Given the description of an element on the screen output the (x, y) to click on. 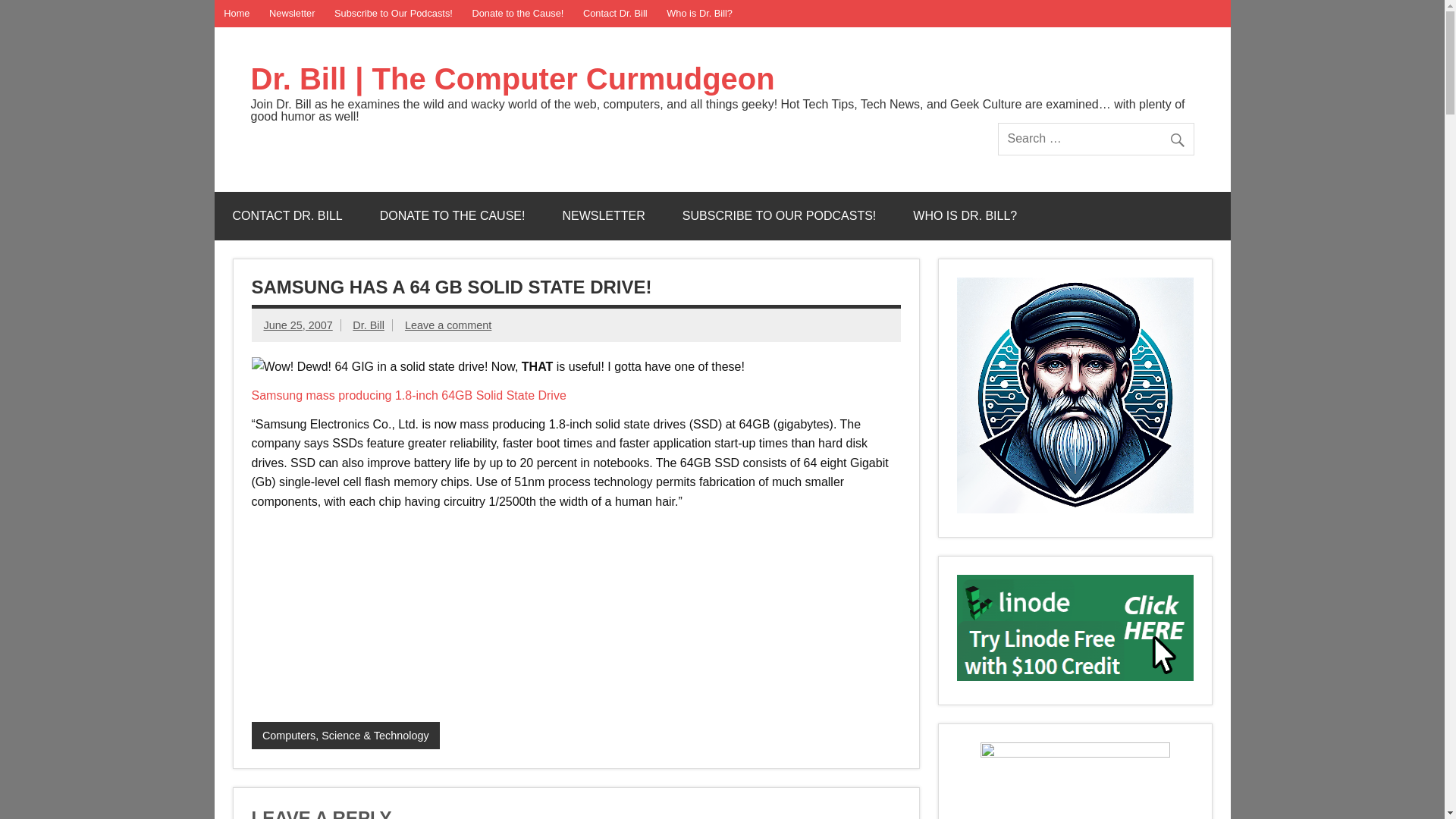
Donate to the Cause! (518, 13)
SUBSCRIBE TO OUR PODCASTS! (778, 215)
Dr. Bill (368, 325)
Samsung mass producing 1.8-inch 64GB Solid State Drive (408, 395)
Contact Dr. Bill (614, 13)
Newsletter (291, 13)
View all posts by Dr. Bill (368, 325)
June 25, 2007 (298, 325)
Subscribe to Our Podcasts! (392, 13)
DONATE TO THE CAUSE! (452, 215)
